Given the description of an element on the screen output the (x, y) to click on. 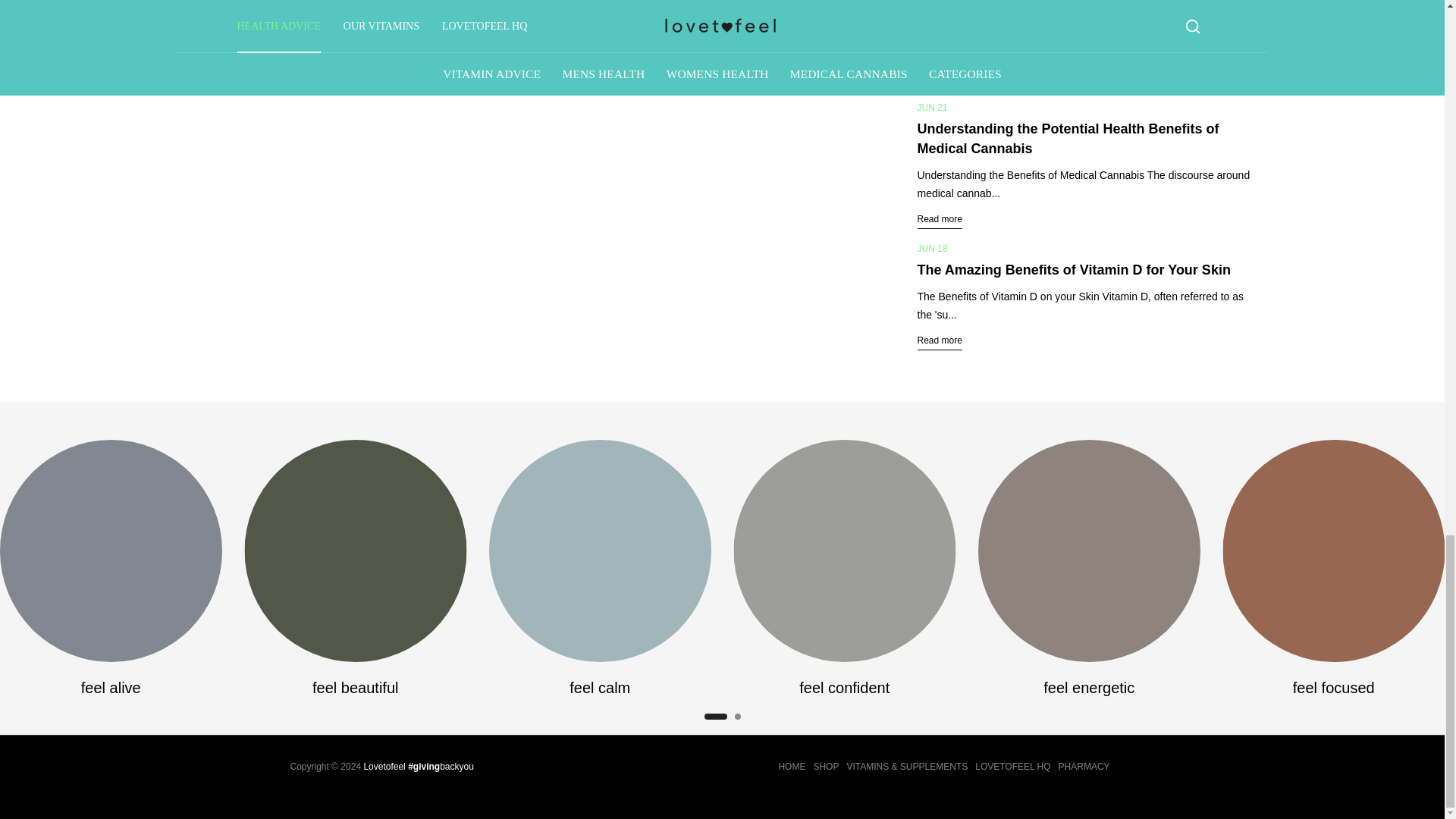
feel beautiful (354, 687)
Read more (939, 219)
feel calm (600, 687)
The Amazing Benefits of Vitamin D for Your Skin (1073, 269)
Read more (939, 76)
feel alive (111, 687)
feel confident (844, 687)
Read more (939, 340)
Read more (215, 39)
